Given the description of an element on the screen output the (x, y) to click on. 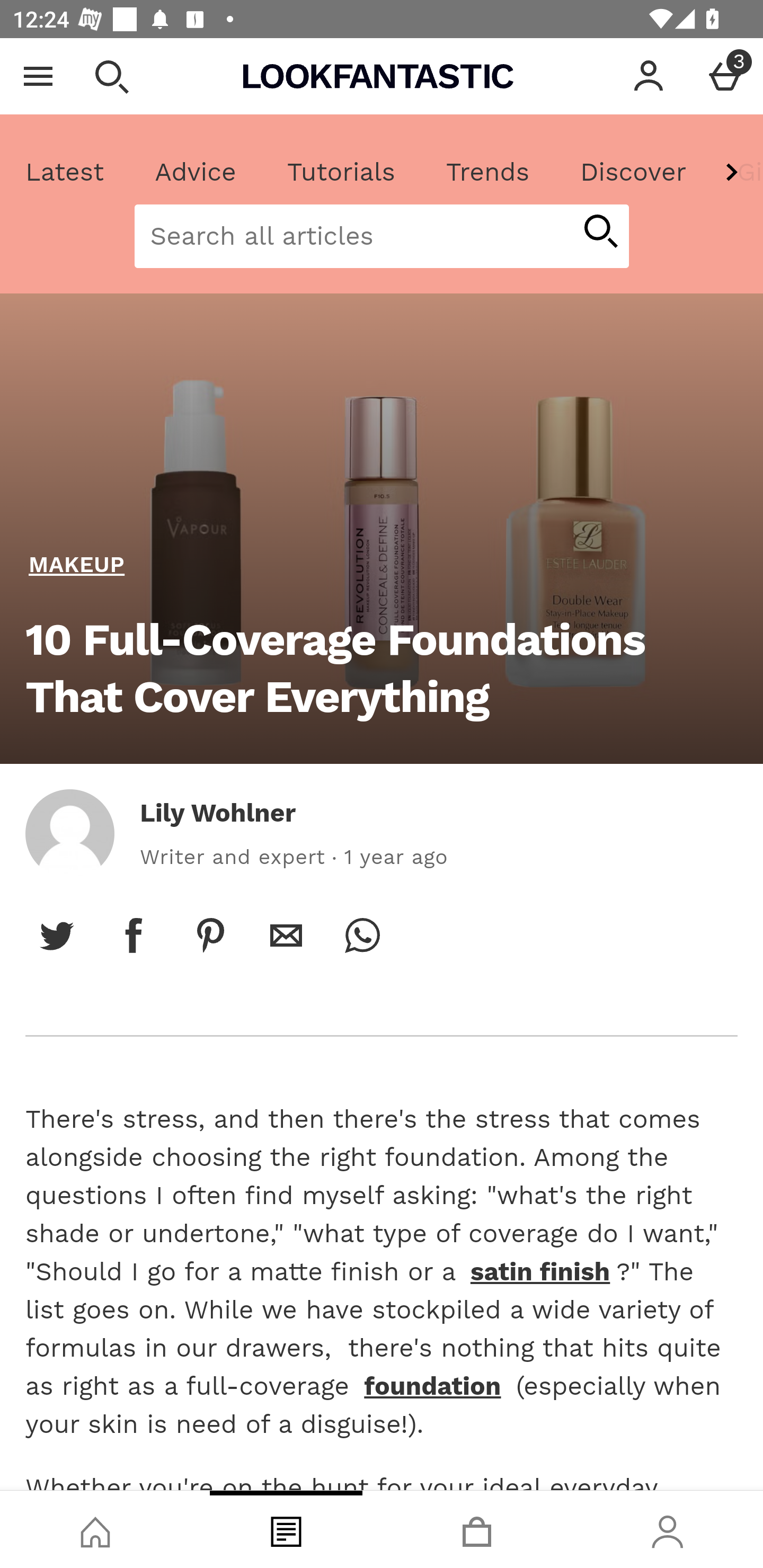
Open Menu (38, 75)
Open search (111, 75)
Account (648, 75)
Basket Menu (724, 75)
Latest (65, 172)
Advice (195, 172)
Tutorials (340, 172)
Trends (486, 172)
Discover (632, 172)
Gift Guide (736, 172)
start article search (599, 232)
MAKEUP (76, 565)
View Lily Wohlner's profile (69, 833)
Lily Wohlner (218, 812)
Share this on Twitter (57, 935)
Share this on Facebook (133, 935)
Share this on Pinterest (209, 935)
Share this by Email (286, 935)
Share this on WhatsApp (362, 935)
satin finish (539, 1271)
foundation (432, 1386)
Shop, tab, 1 of 4 (95, 1529)
Blog, tab, 2 of 4 (285, 1529)
Basket, tab, 3 of 4 (476, 1529)
Account, tab, 4 of 4 (667, 1529)
